Given the description of an element on the screen output the (x, y) to click on. 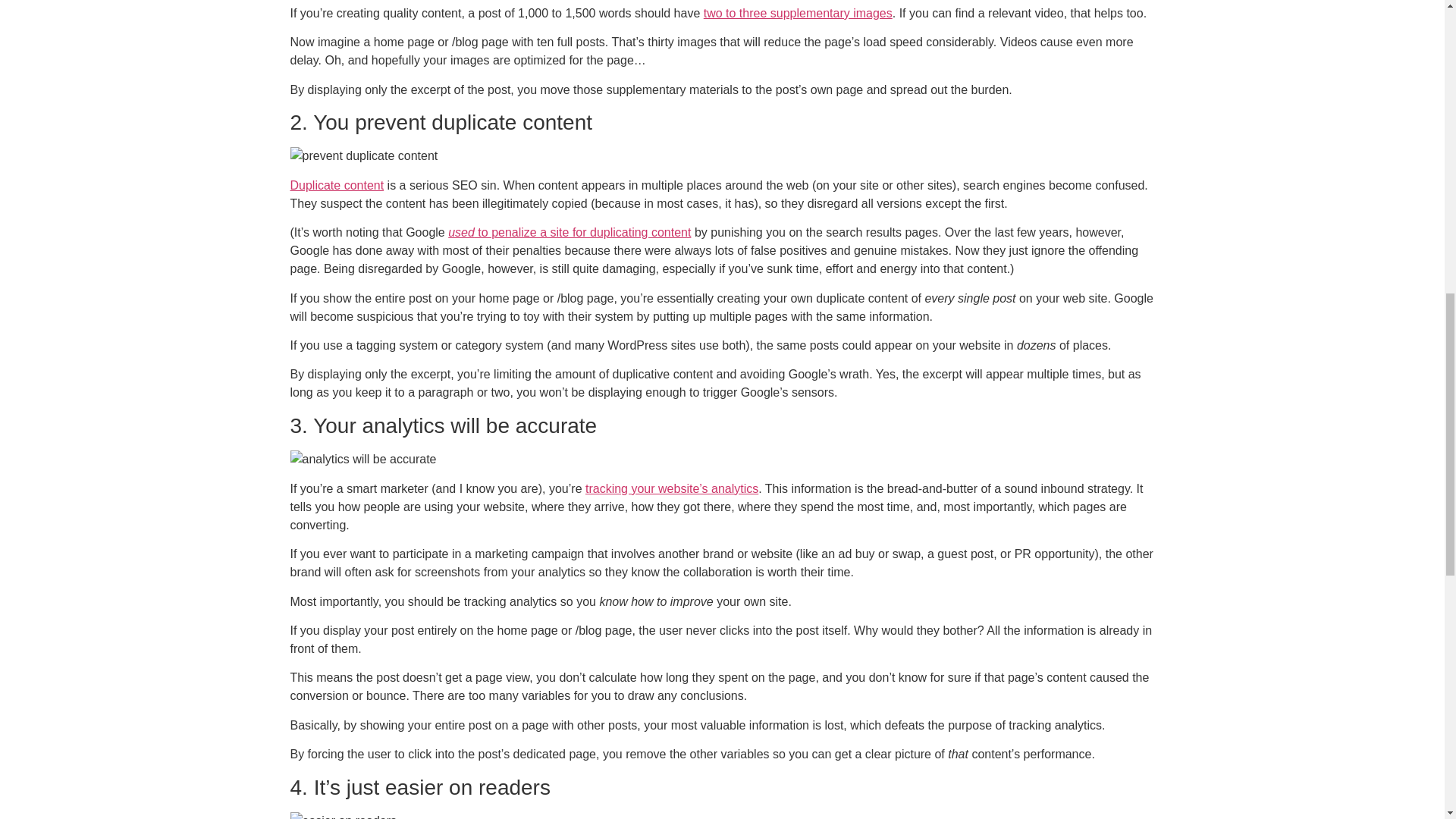
two to three supplementary images (797, 12)
Duplicate content (336, 185)
used to penalize a site for duplicating content (569, 232)
